Given the description of an element on the screen output the (x, y) to click on. 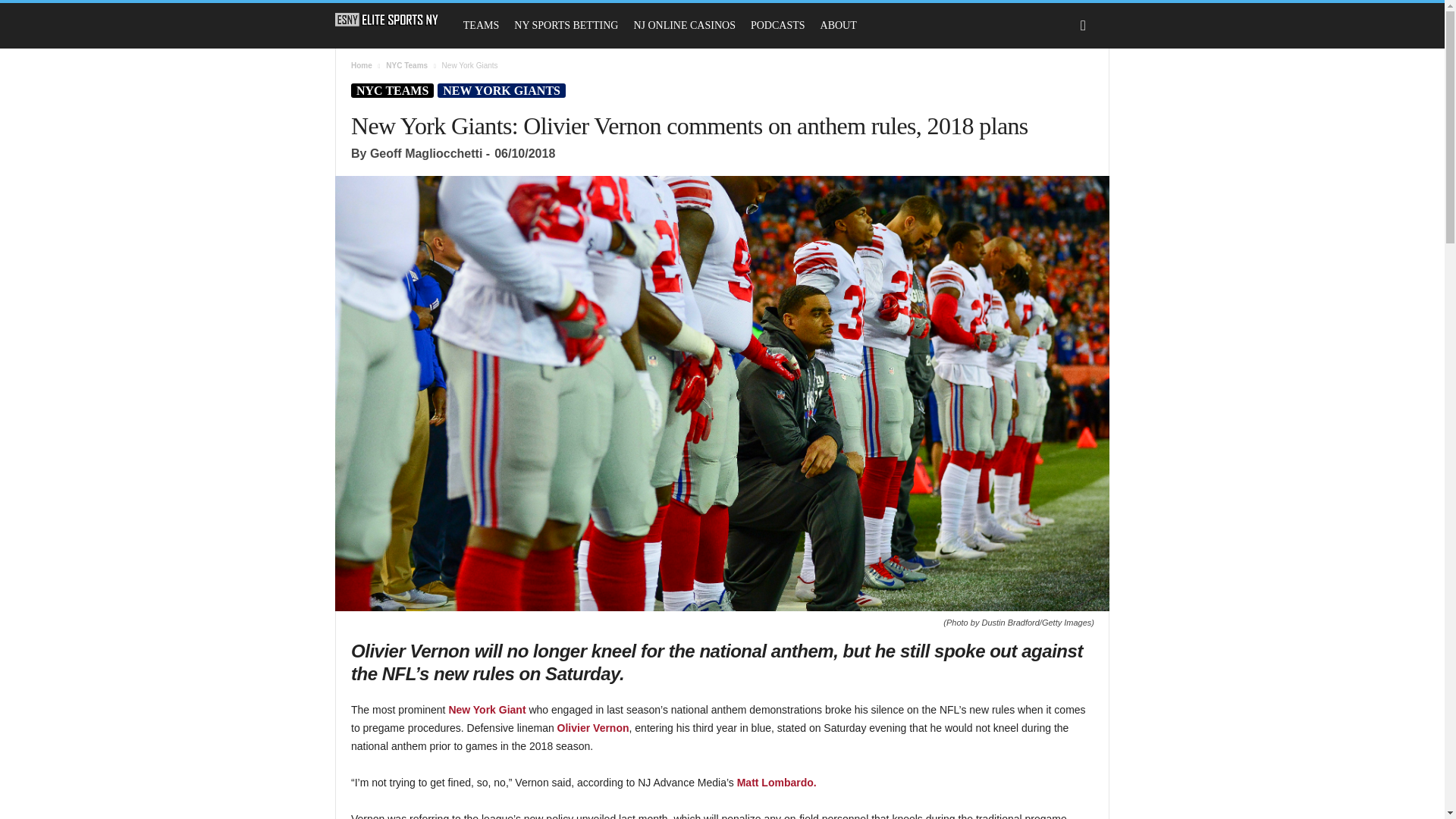
View all posts in NYC Teams (406, 65)
Elite Sports NY (394, 19)
Elite Sports NY (386, 19)
TEAMS (480, 25)
